Given the description of an element on the screen output the (x, y) to click on. 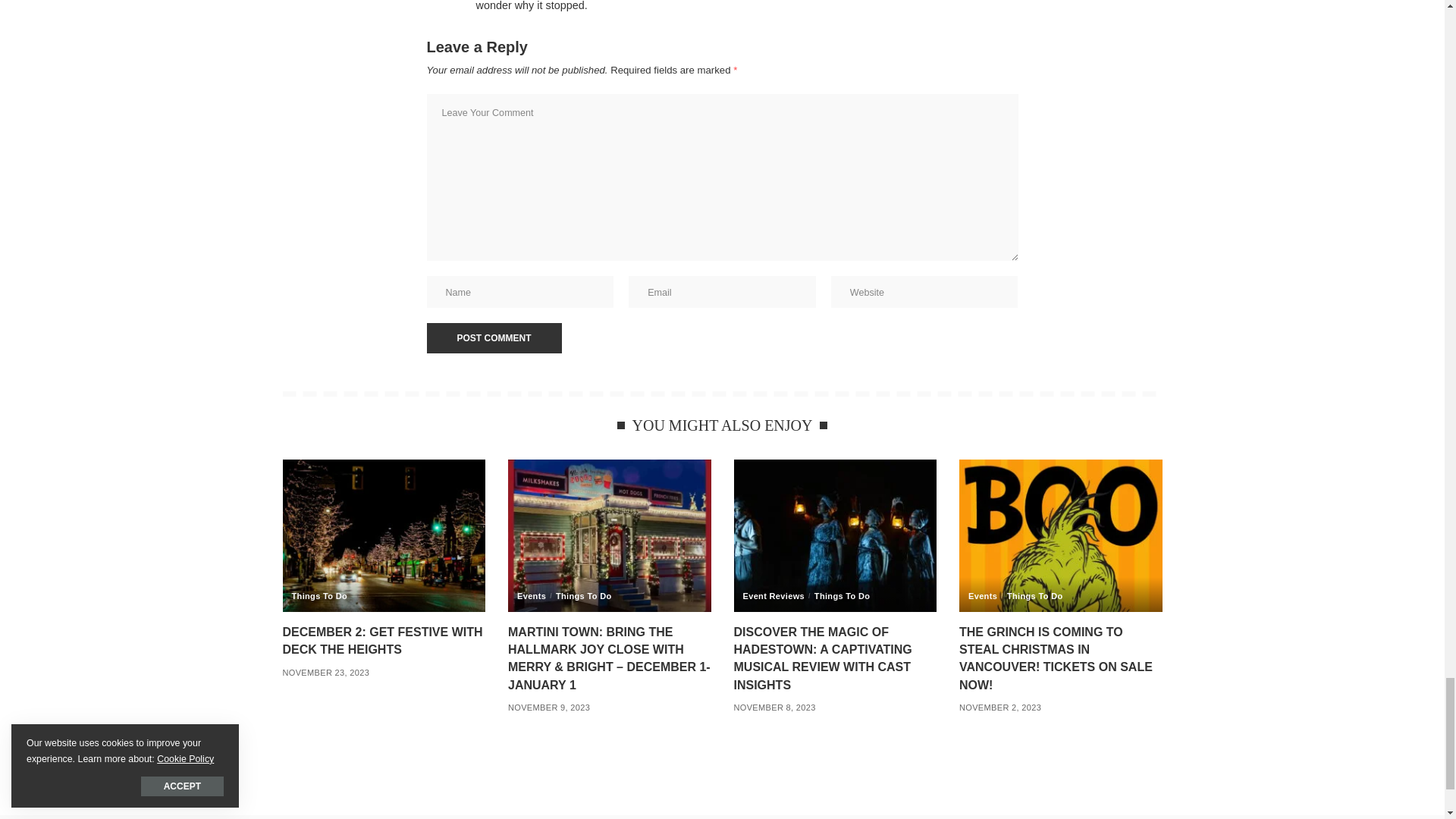
Post Comment (493, 337)
